Given the description of an element on the screen output the (x, y) to click on. 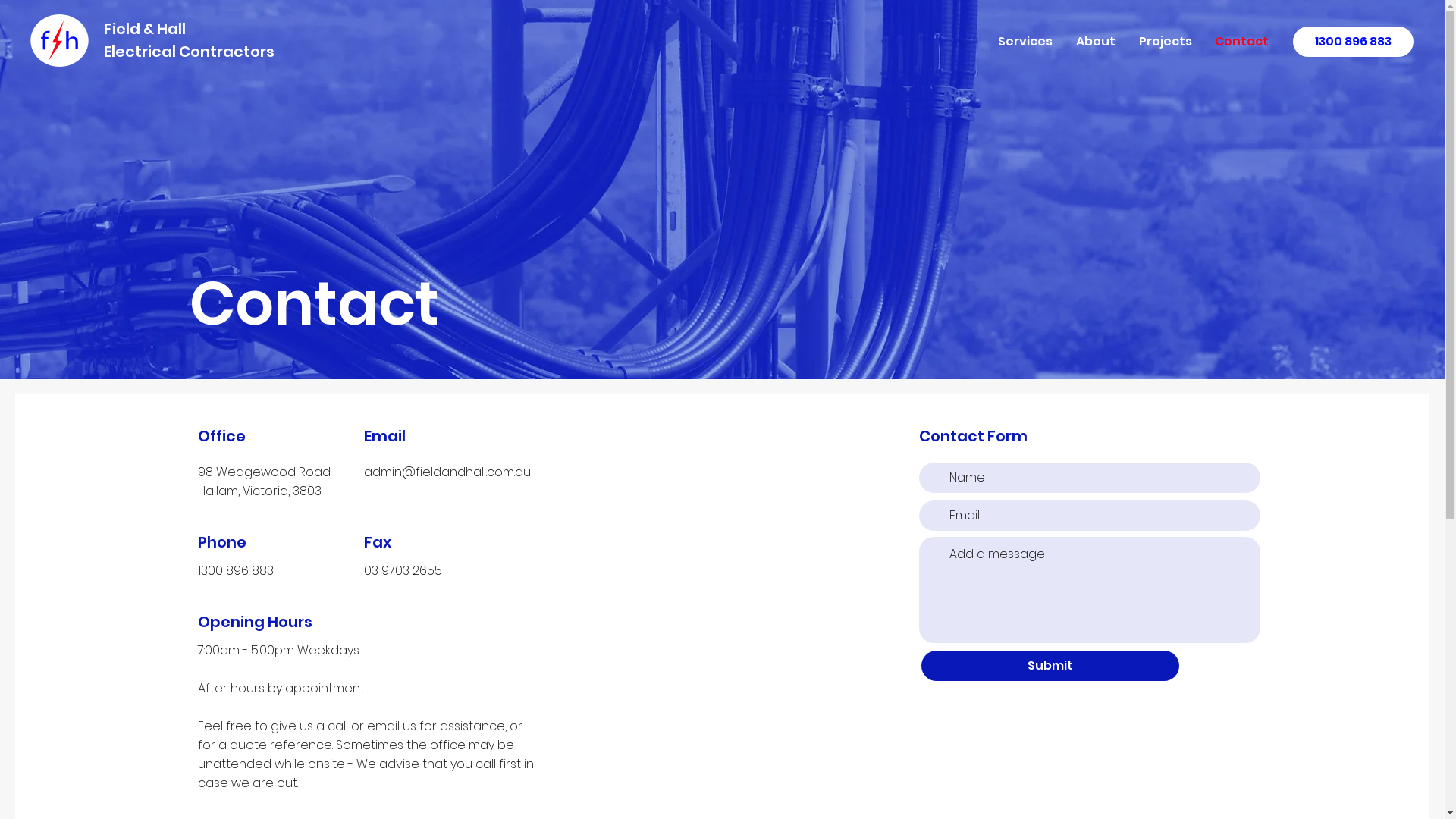
1300 896 883 Element type: text (1352, 41)
admin@fieldandhall.com.au Element type: text (447, 471)
Services Element type: text (1024, 41)
1300 896 883 Element type: text (235, 570)
About Element type: text (1094, 41)
Projects Element type: text (1164, 41)
Submit Element type: text (1050, 665)
Contact Element type: text (1241, 41)
